Given the description of an element on the screen output the (x, y) to click on. 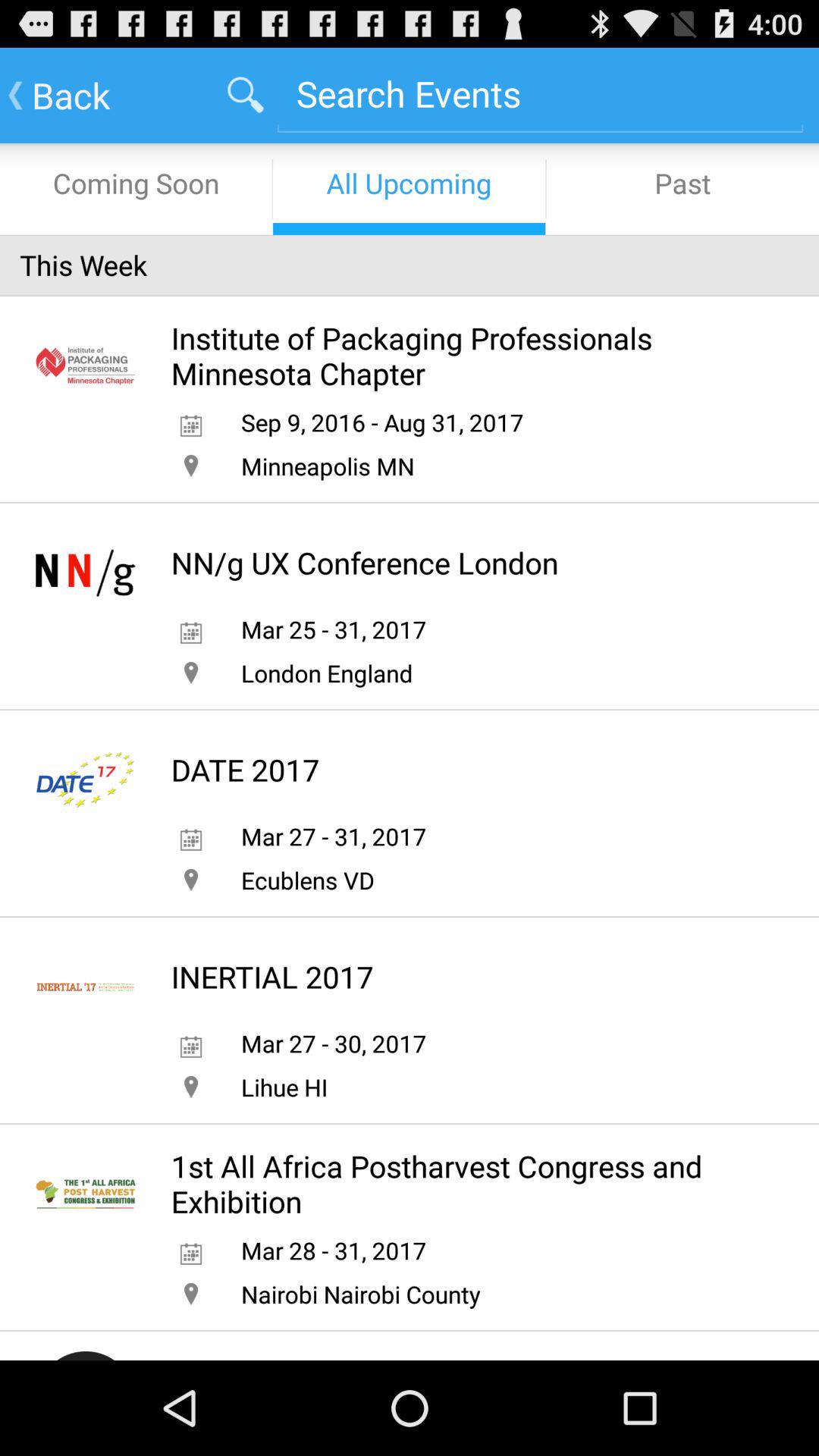
search bar (540, 93)
